Given the description of an element on the screen output the (x, y) to click on. 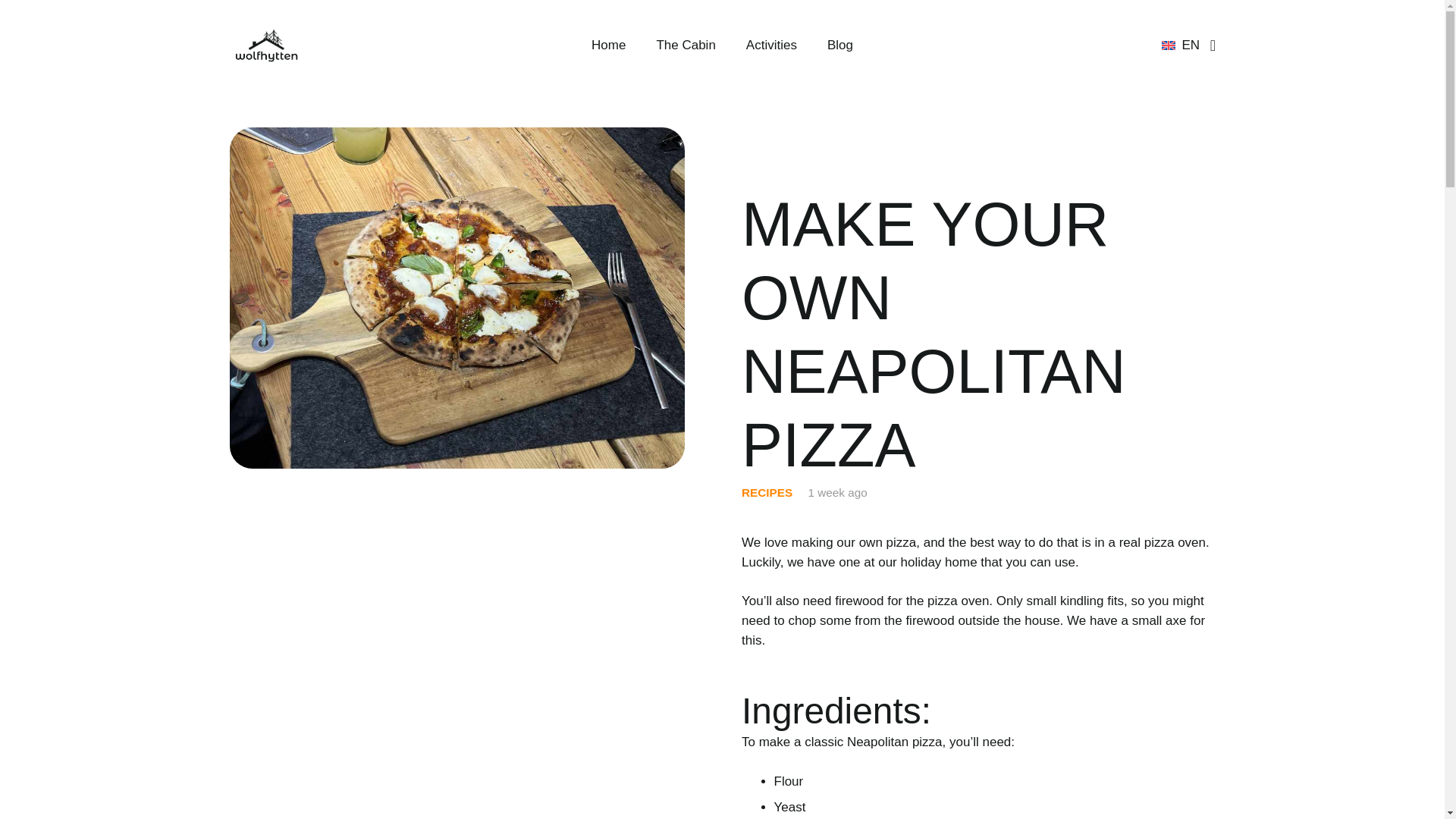
EN (1188, 45)
RECIPES (766, 492)
Activities (771, 45)
The Cabin (685, 45)
